Given the description of an element on the screen output the (x, y) to click on. 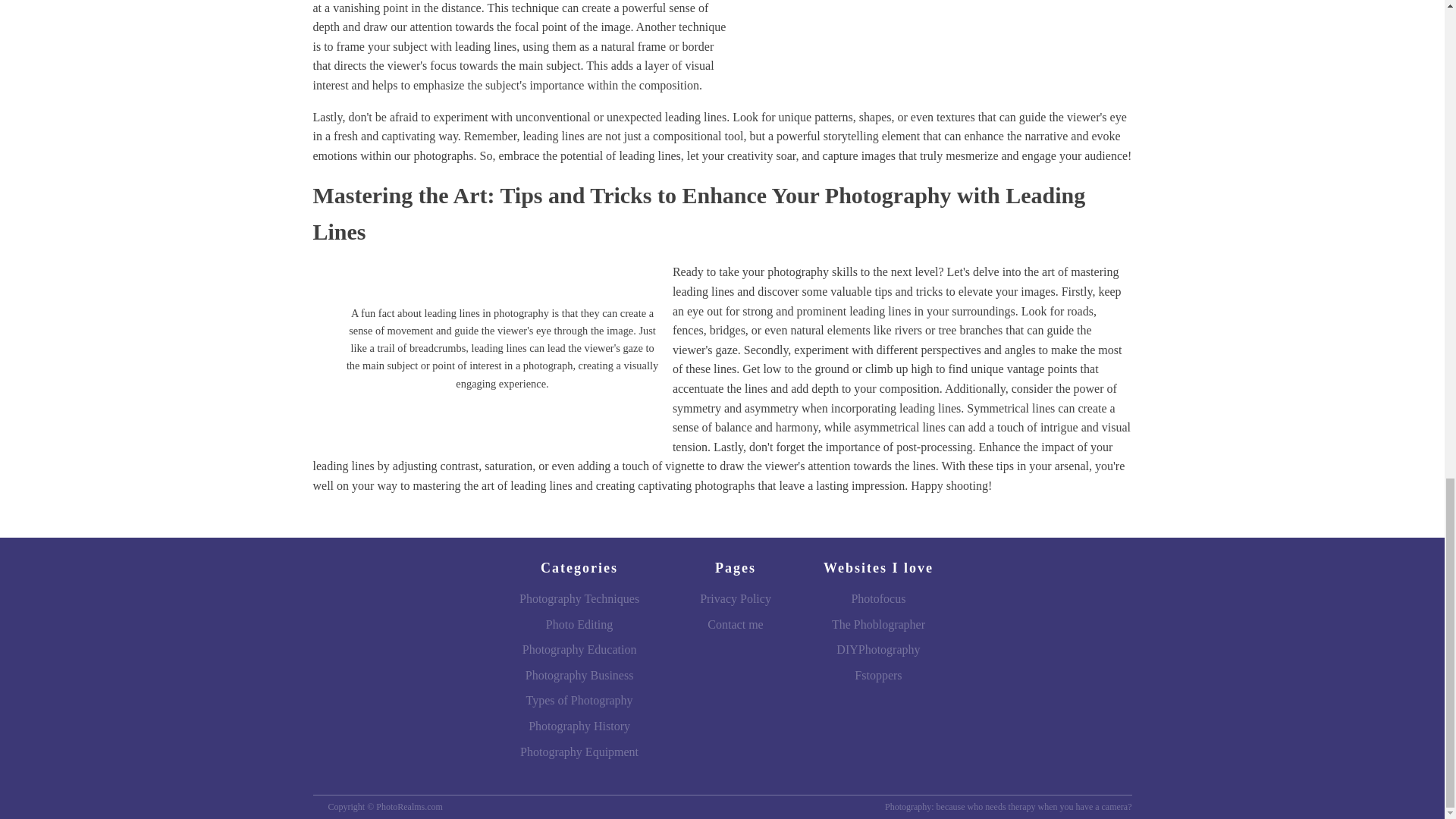
DIYPhotography (878, 649)
The Phoblographer (878, 624)
Privacy Policy (735, 598)
Photography Techniques (578, 598)
Photofocus (878, 598)
Fstoppers (878, 675)
Photography Education (578, 649)
Photography Business (578, 675)
Photography History (578, 726)
Photo Editing (578, 624)
Contact me (735, 624)
Types of Photography (578, 700)
Photography Equipment (578, 751)
